Given the description of an element on the screen output the (x, y) to click on. 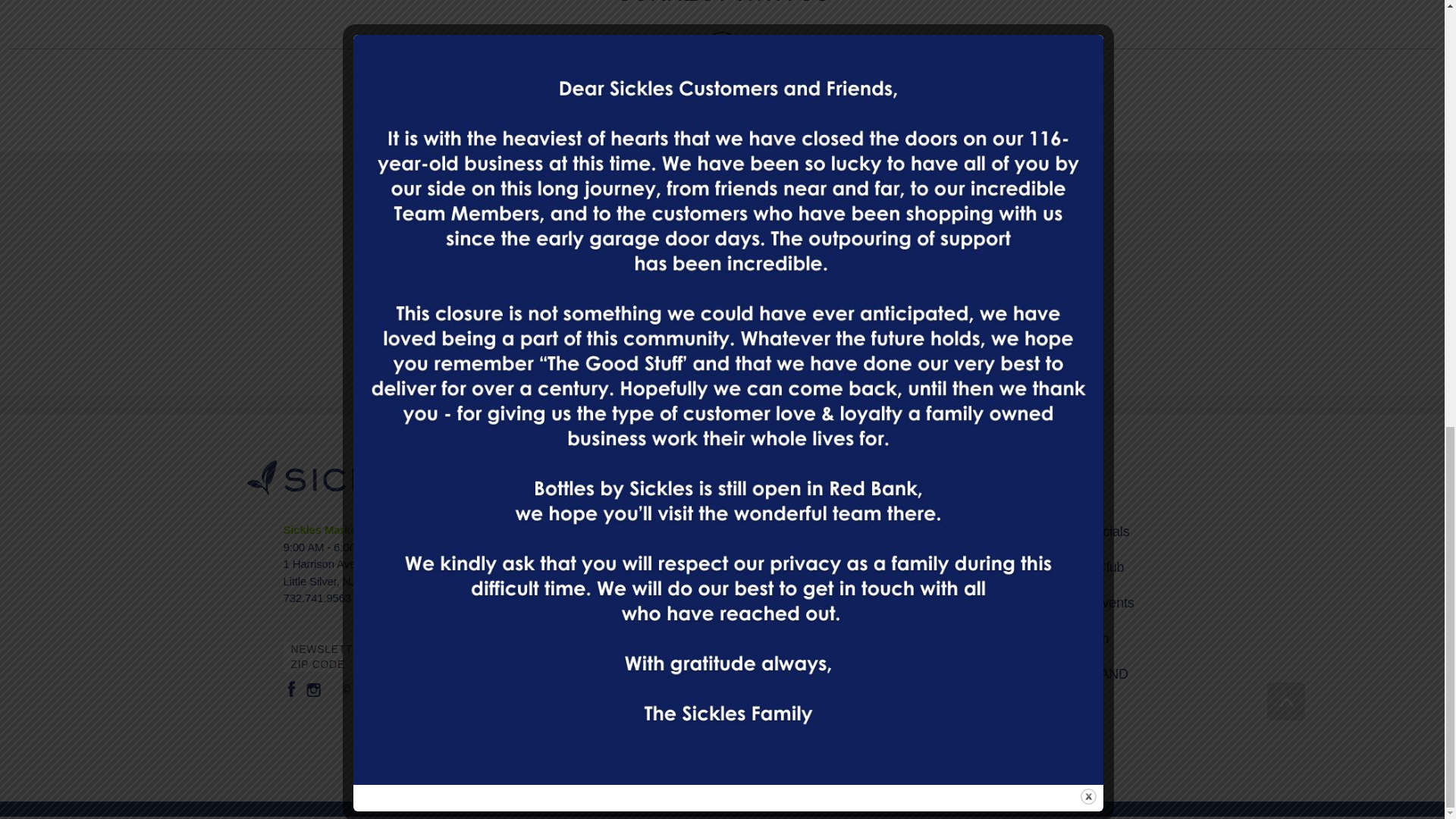
Apply (941, 325)
